Given the description of an element on the screen output the (x, y) to click on. 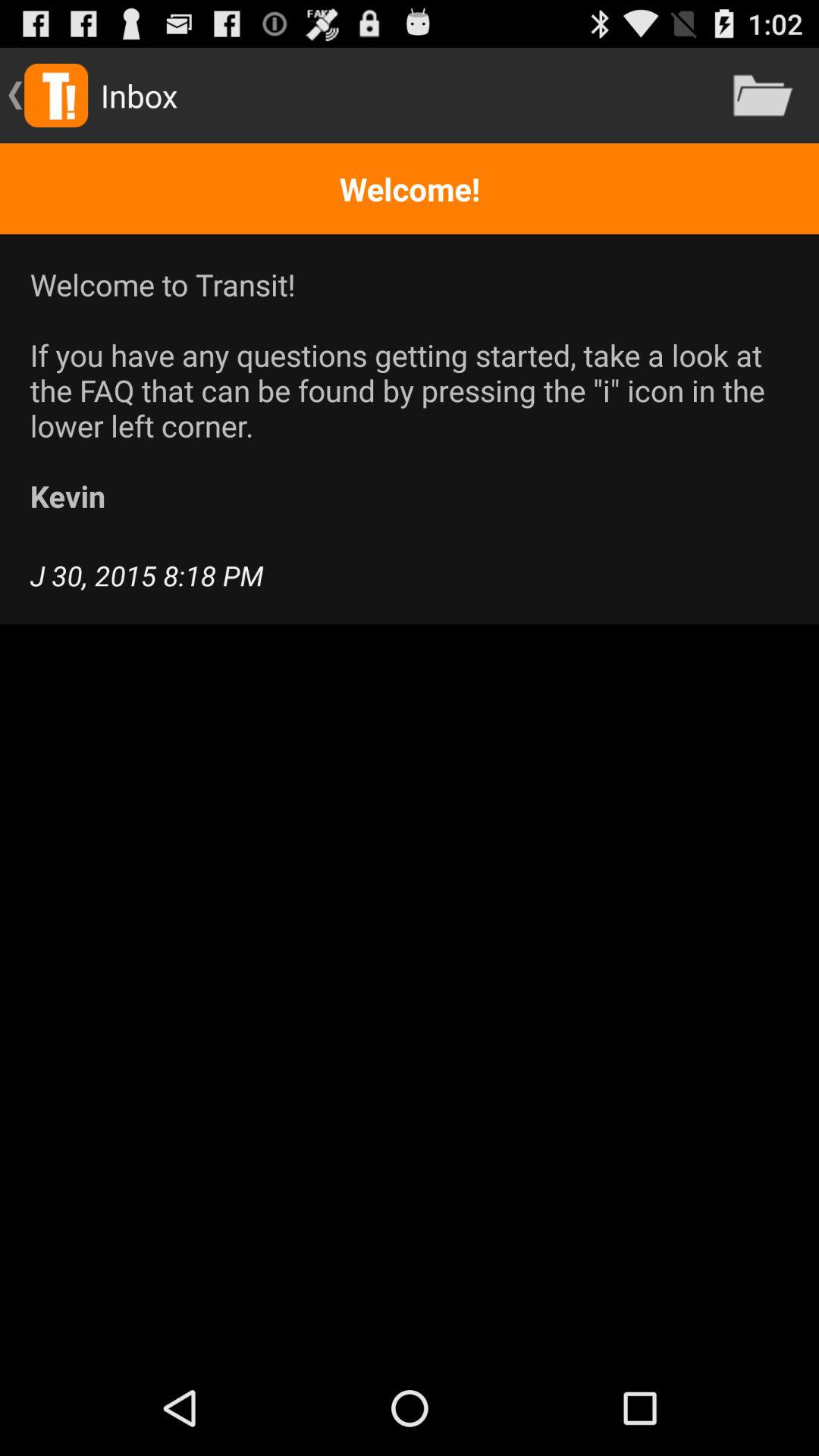
scroll to the welcome to transit (409, 390)
